Given the description of an element on the screen output the (x, y) to click on. 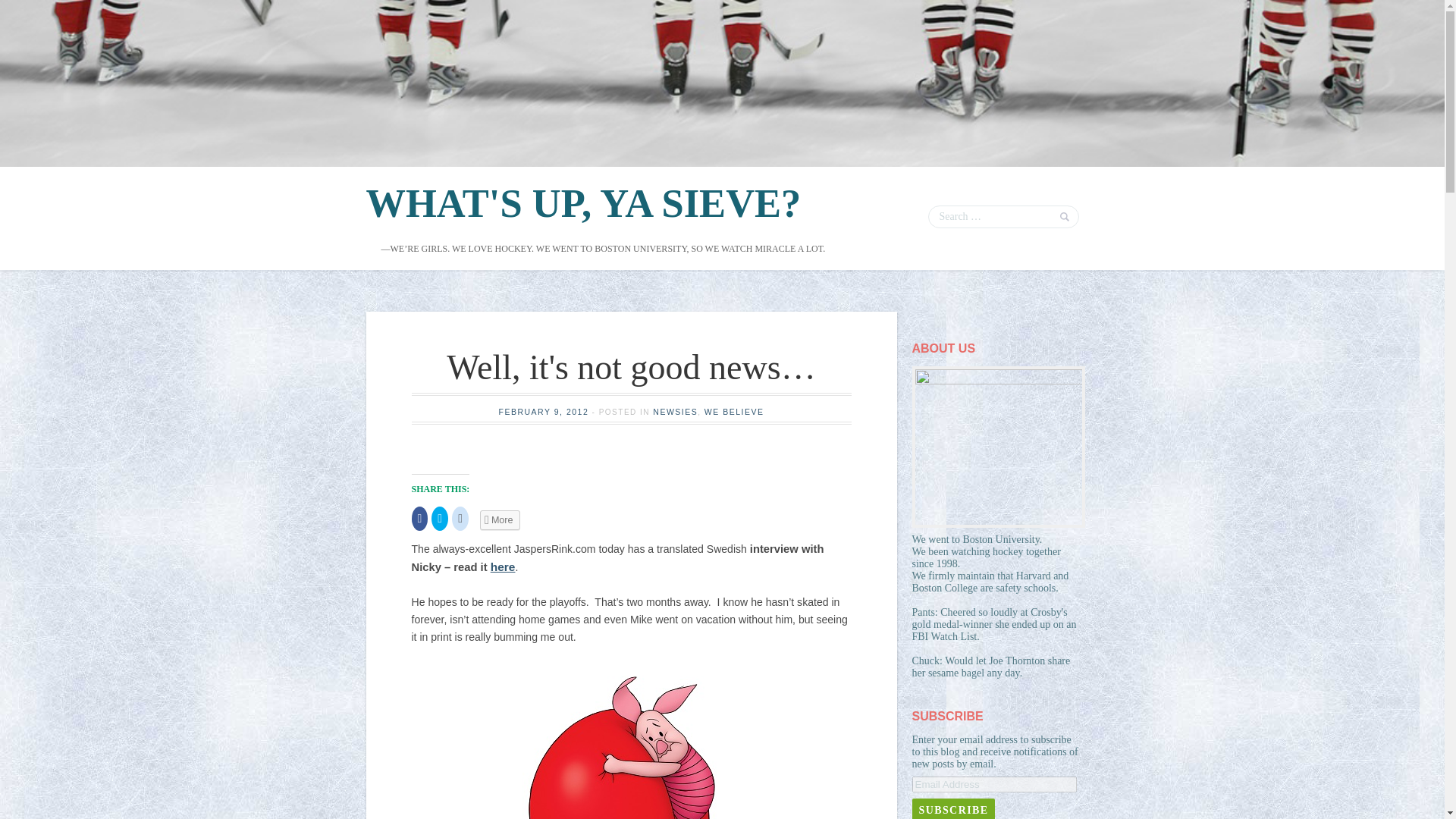
More (499, 519)
WE BELIEVE (734, 411)
FEBRUARY 9, 2012 (544, 411)
What's Up, Ya Sieve? (582, 202)
Subscribe (952, 808)
10:39 am (544, 411)
NEWSIES (674, 411)
here (502, 566)
Subscribe (952, 808)
WHAT'S UP, YA SIEVE? (582, 202)
